Given the description of an element on the screen output the (x, y) to click on. 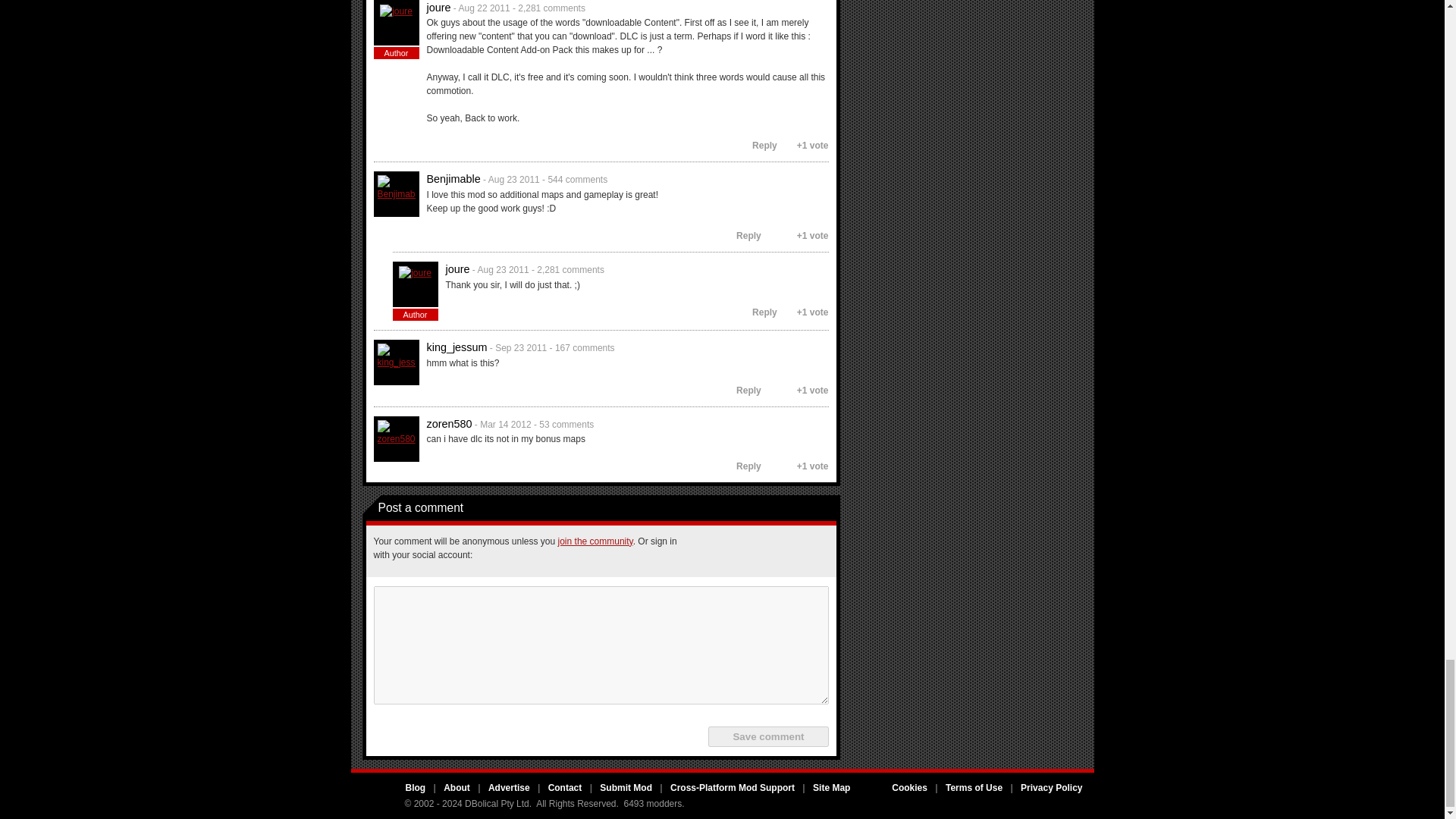
Save comment (767, 736)
